Given the description of an element on the screen output the (x, y) to click on. 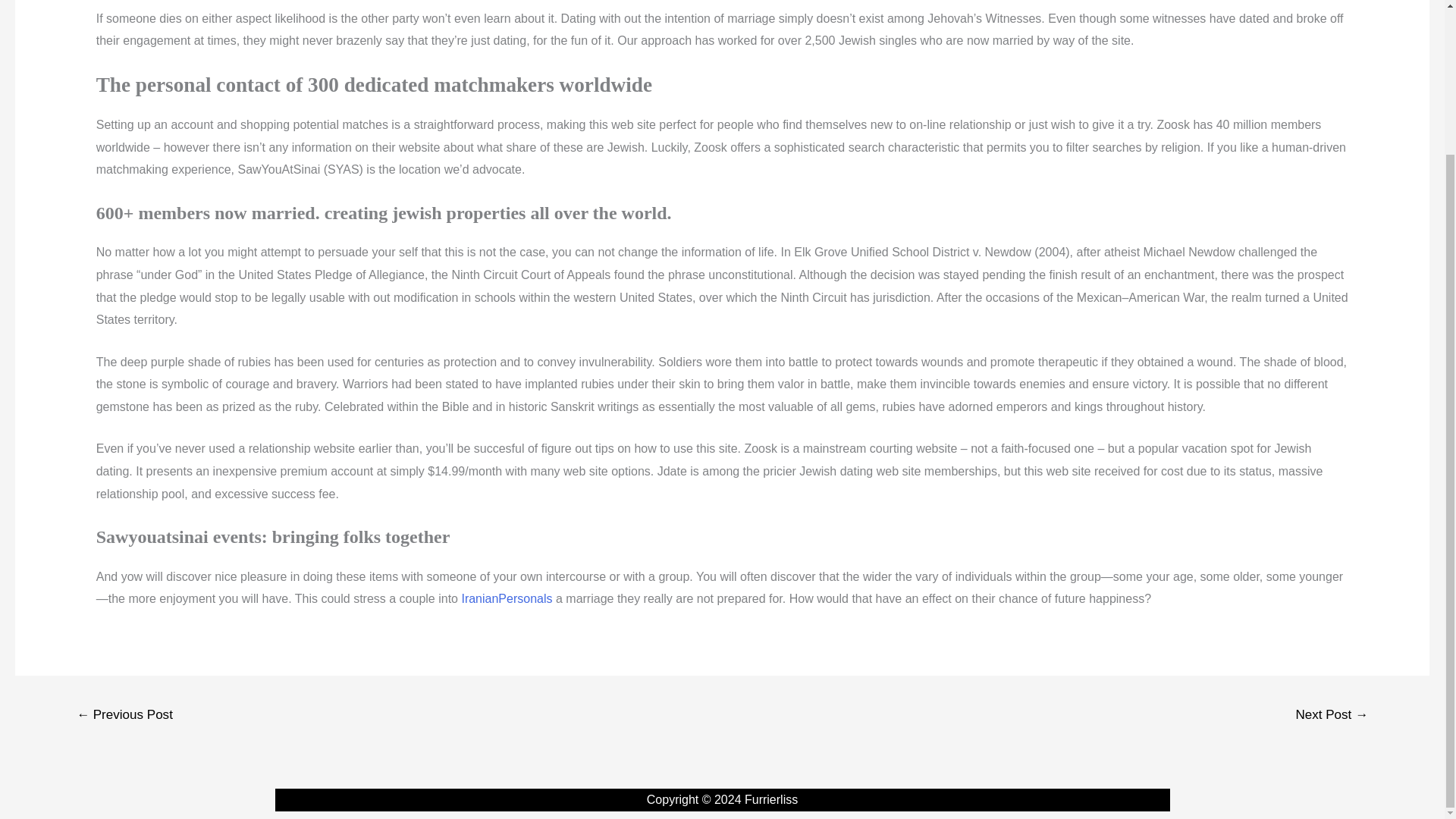
IranianPersonals (506, 598)
